Given the description of an element on the screen output the (x, y) to click on. 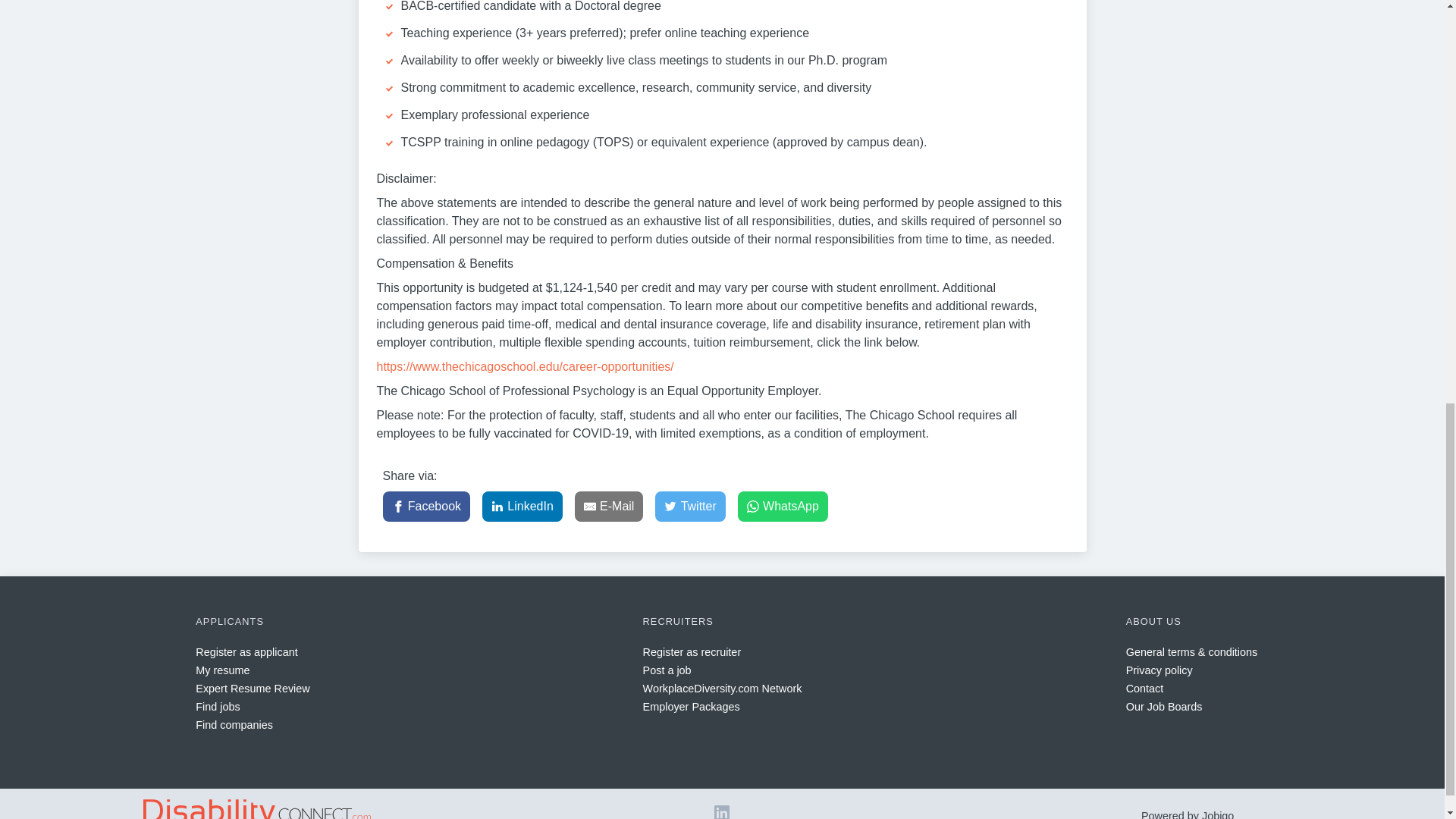
LinkedIn logo (721, 812)
Expert Resume Review (251, 688)
E-Mail (609, 506)
Facebook (425, 506)
Employer Packages (691, 706)
Post a job (667, 670)
WorkplaceDiversity.com Network (722, 688)
Contact (1144, 688)
Our Job Boards (1163, 706)
Privacy policy (1158, 670)
Twitter (690, 506)
Find companies (234, 725)
Register as recruiter (692, 652)
LinkedIn logo (721, 814)
My resume (221, 670)
